Given the description of an element on the screen output the (x, y) to click on. 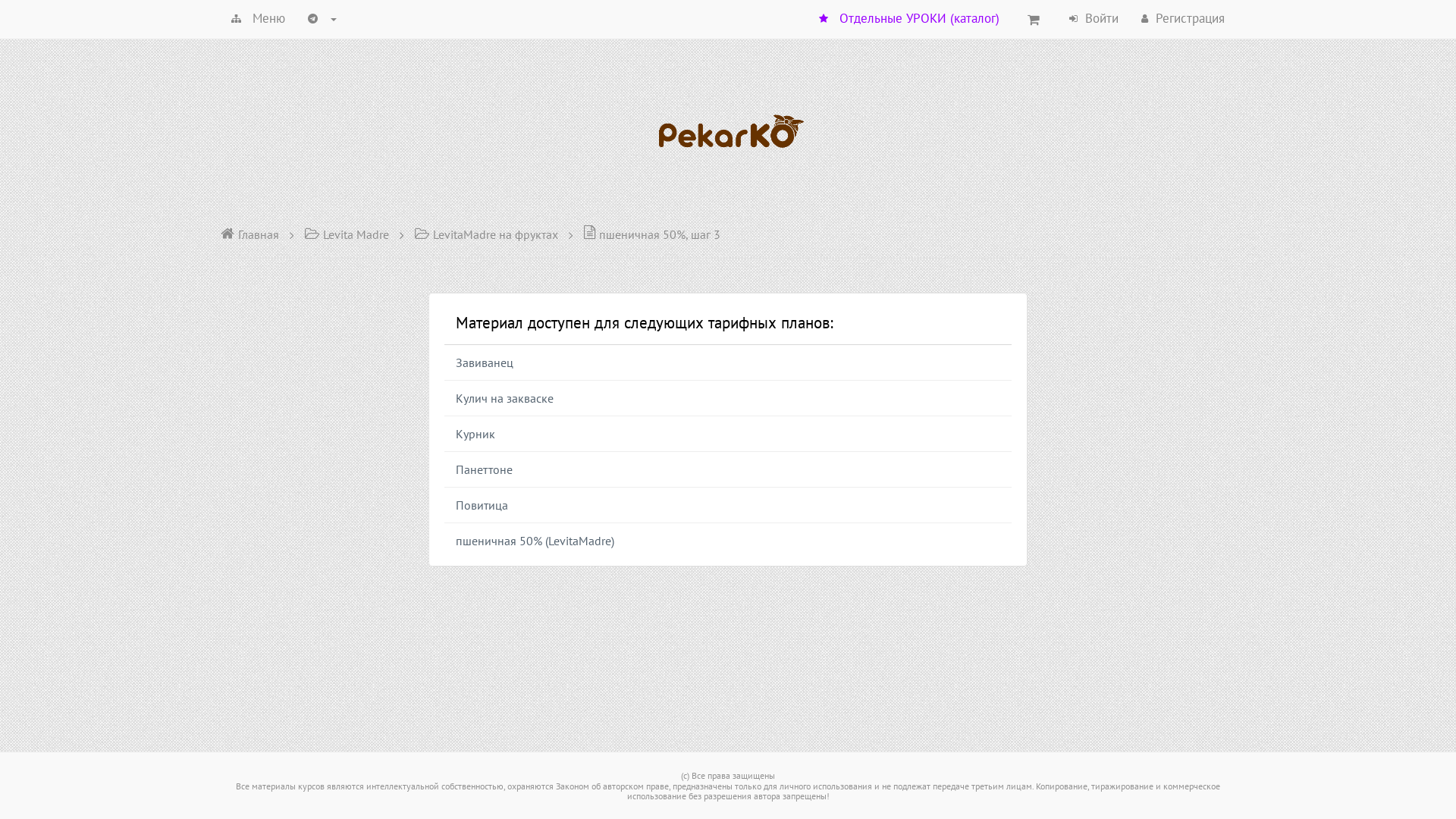
Levita Madre Element type: text (346, 233)
